Given the description of an element on the screen output the (x, y) to click on. 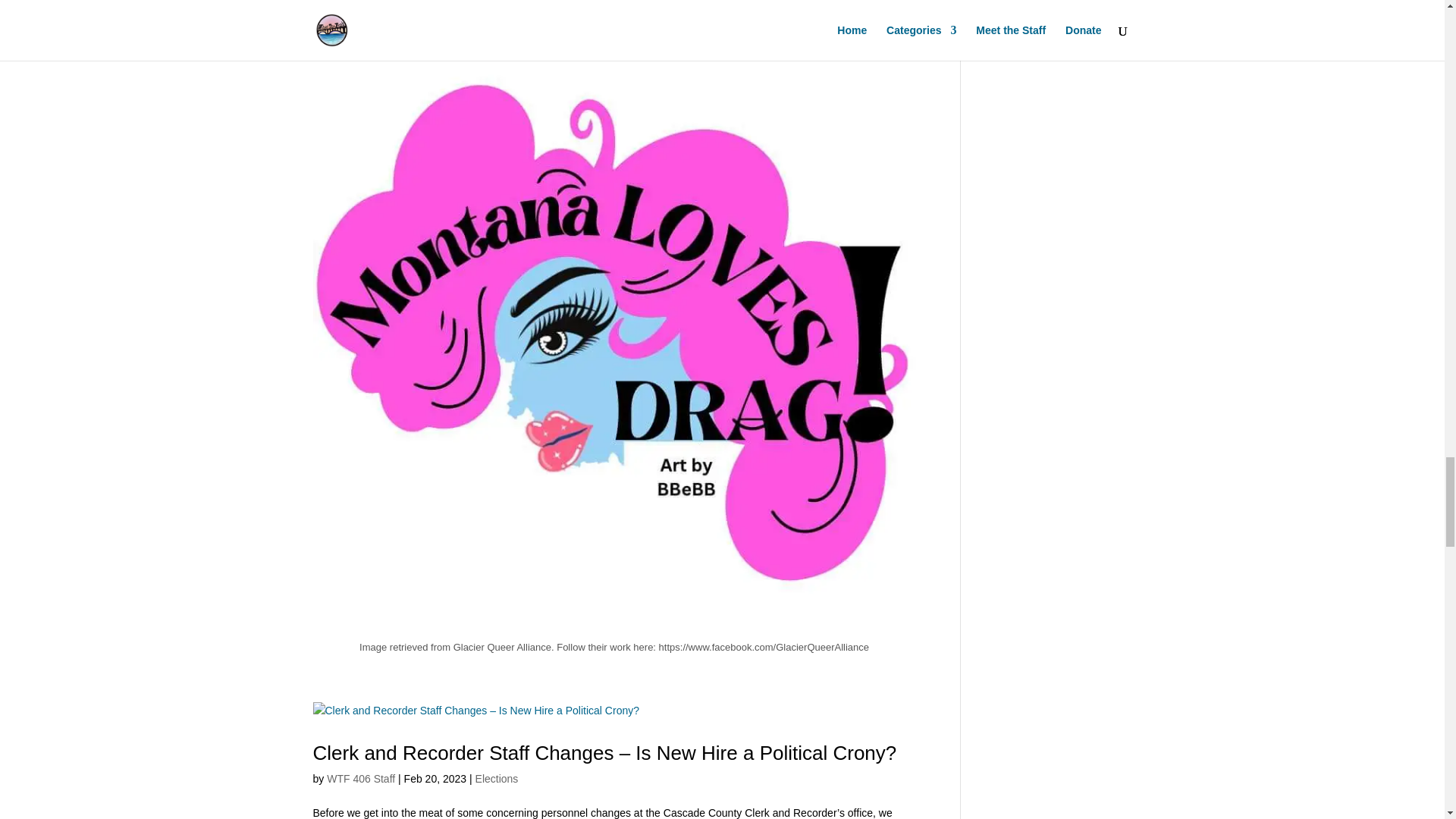
Posts by WTF 406 Staff (360, 778)
WTF 406 Staff (360, 778)
Elections (497, 778)
